Given the description of an element on the screen output the (x, y) to click on. 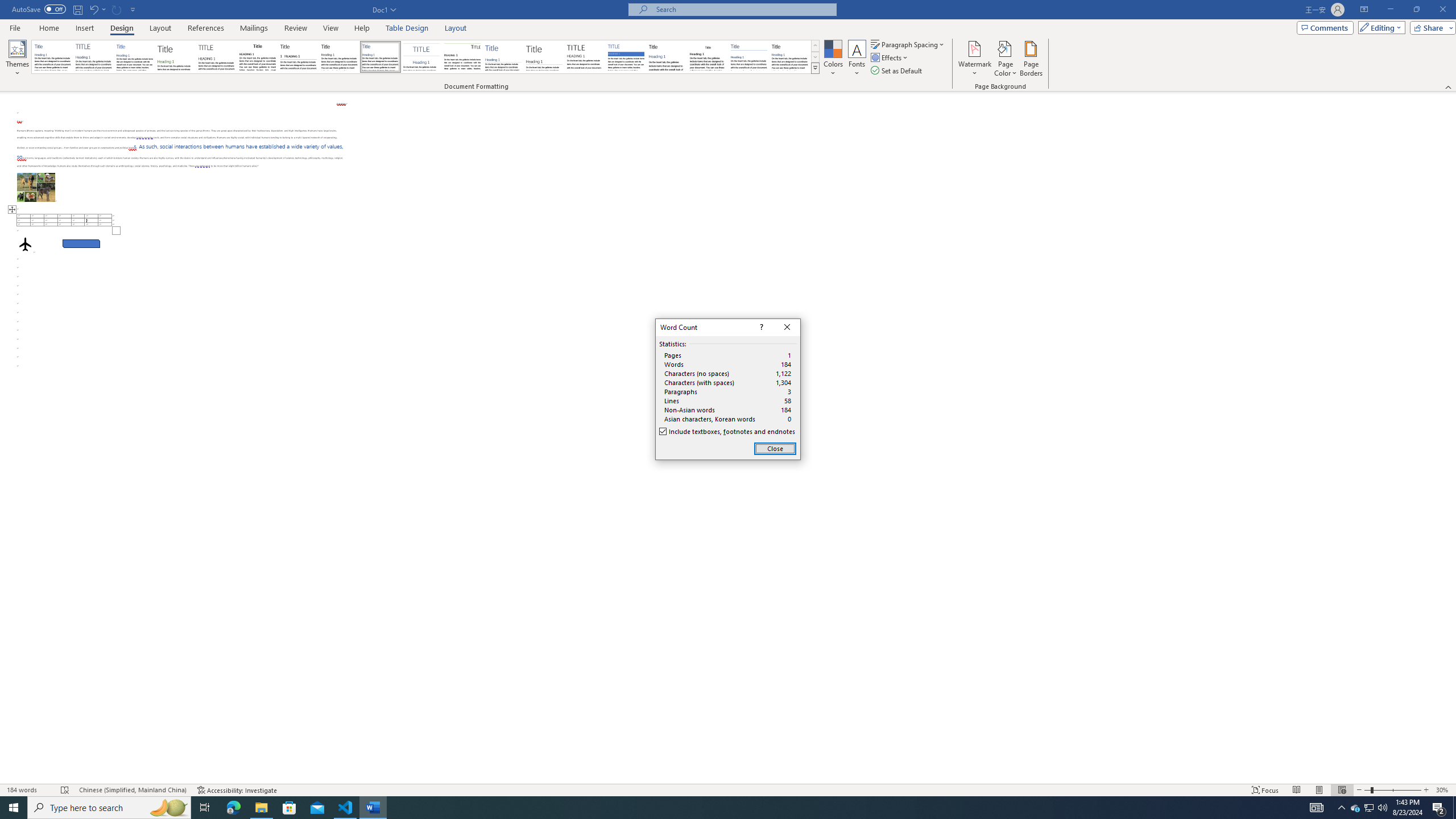
Word Count 184 words (28, 790)
Lines (Simple) (503, 56)
Context help (760, 327)
Centered (421, 56)
Effects (890, 56)
Word 2013 (790, 56)
